Given the description of an element on the screen output the (x, y) to click on. 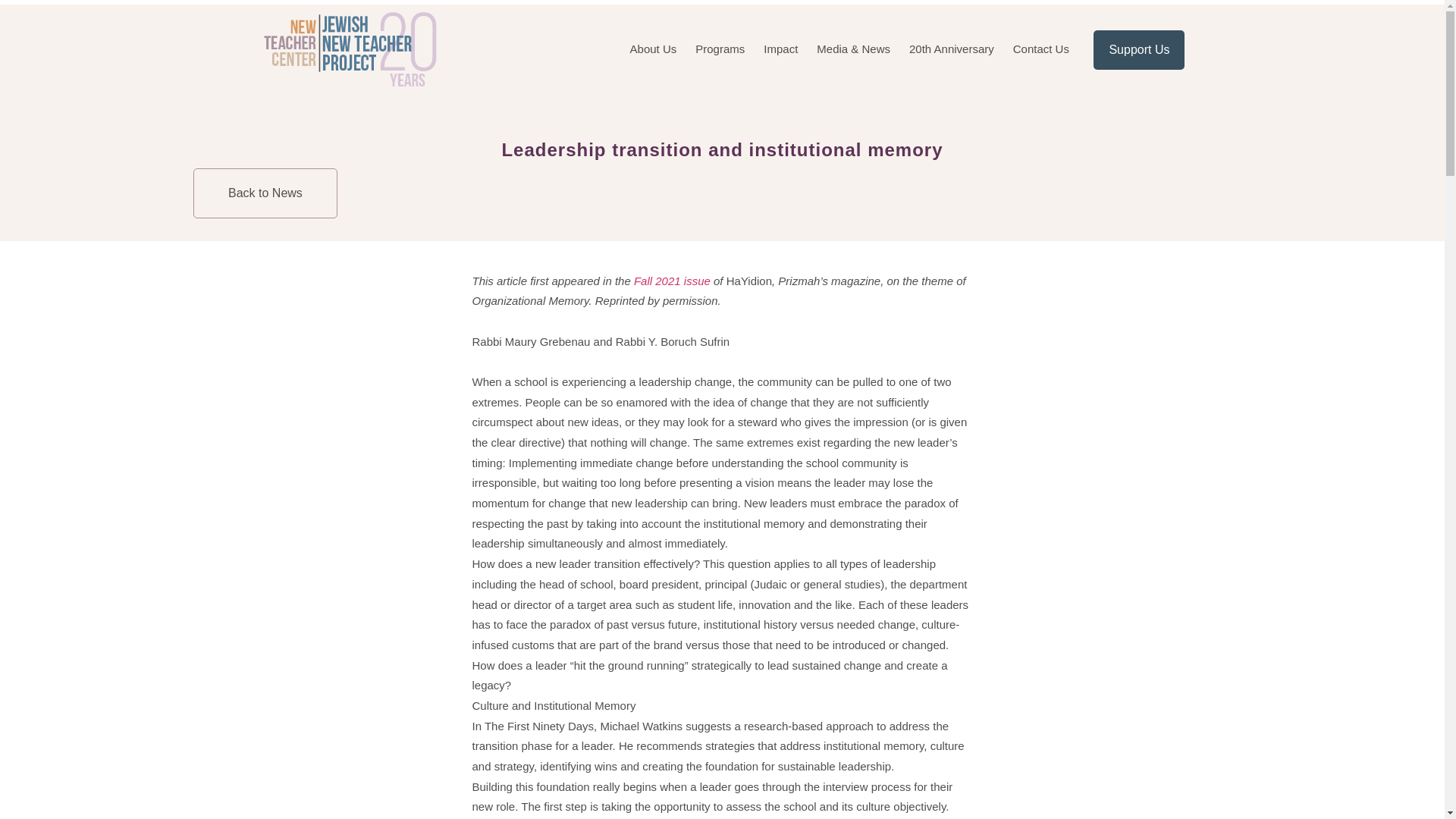
Contact Us (1040, 49)
20th Anniversary (951, 49)
About Us (653, 49)
Programs (719, 49)
